Given the description of an element on the screen output the (x, y) to click on. 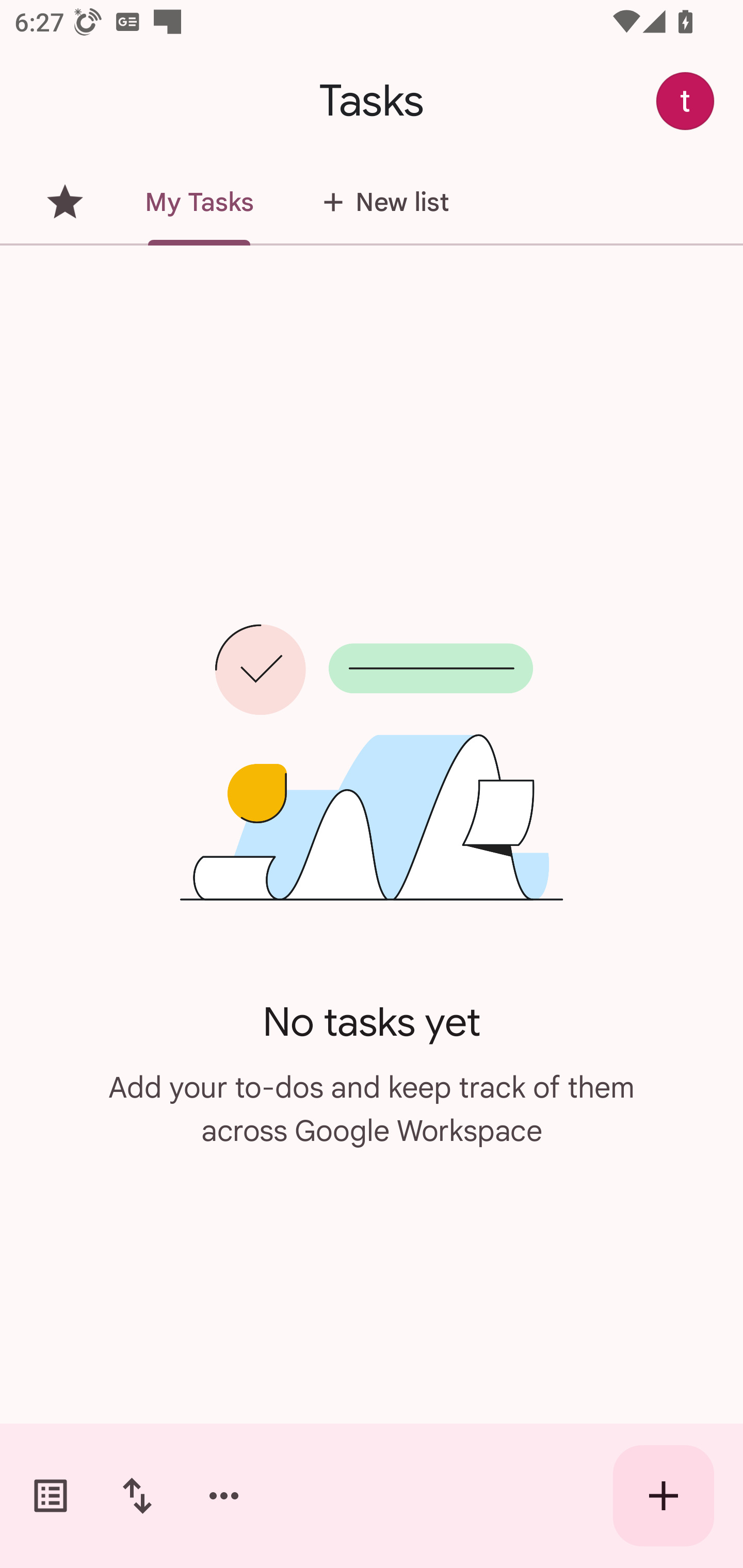
Starred (64, 202)
New list (380, 202)
Switch task lists (50, 1495)
Create new task (663, 1495)
Change sort order (136, 1495)
More options (223, 1495)
